Given the description of an element on the screen output the (x, y) to click on. 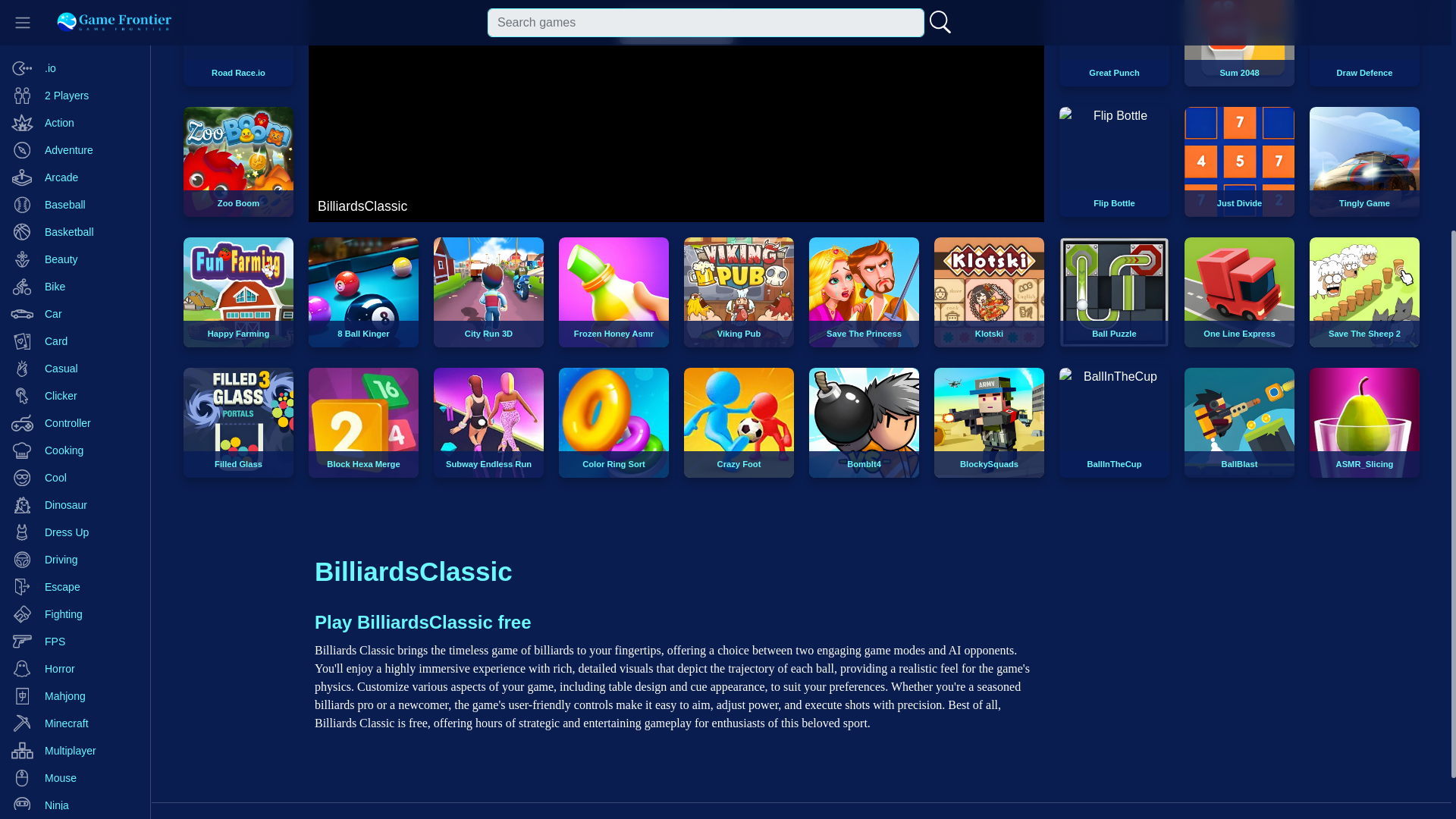
Puzzle (74, 487)
Mahjong (74, 350)
Zoo Boom (238, 162)
Shooting (74, 569)
Casual (74, 22)
8 Ball Kinger (363, 292)
Draw Defence (1363, 43)
FPS (74, 296)
Tower Defence (74, 705)
Card (74, 4)
Mouse (74, 432)
Driving (74, 214)
Minecraft (74, 378)
Happy Farming (238, 292)
Shark (74, 542)
